Given the description of an element on the screen output the (x, y) to click on. 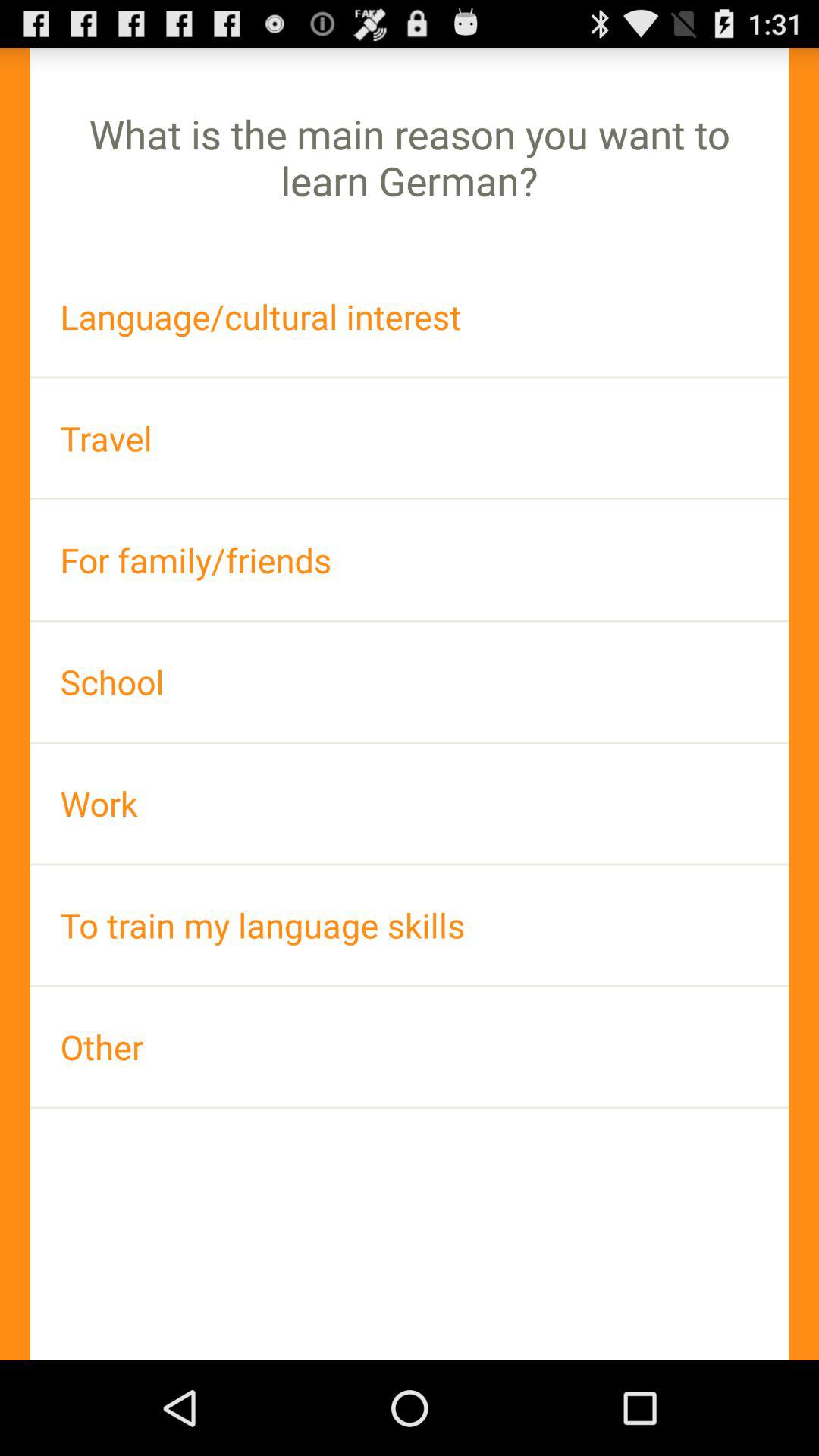
tap the item above for family/friends icon (409, 438)
